Given the description of an element on the screen output the (x, y) to click on. 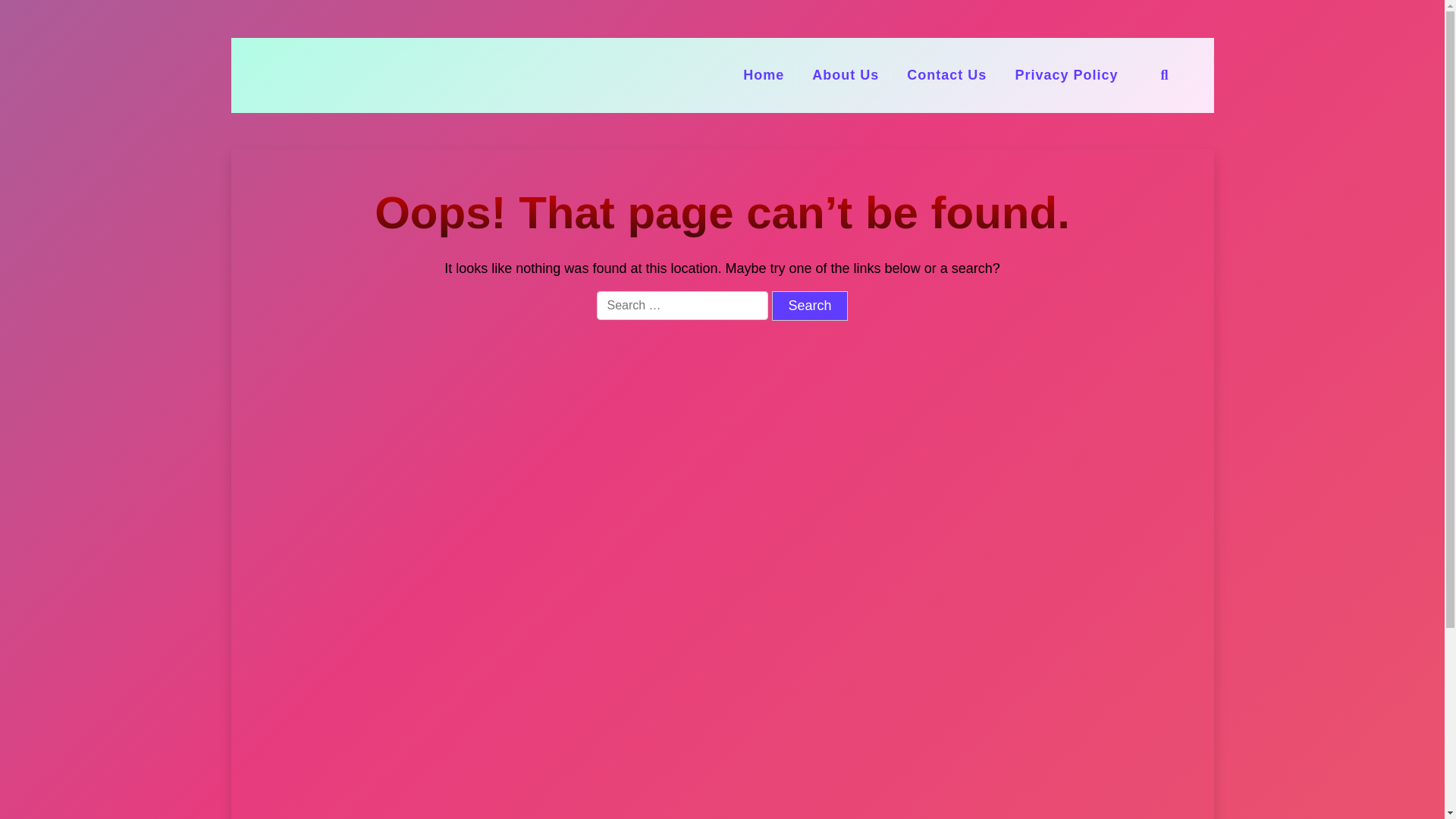
Home (763, 75)
Search (809, 306)
Search (809, 306)
Privacy Policy (1066, 75)
Search (809, 306)
About Us (845, 75)
Search (1026, 409)
Contact Us (946, 75)
